Given the description of an element on the screen output the (x, y) to click on. 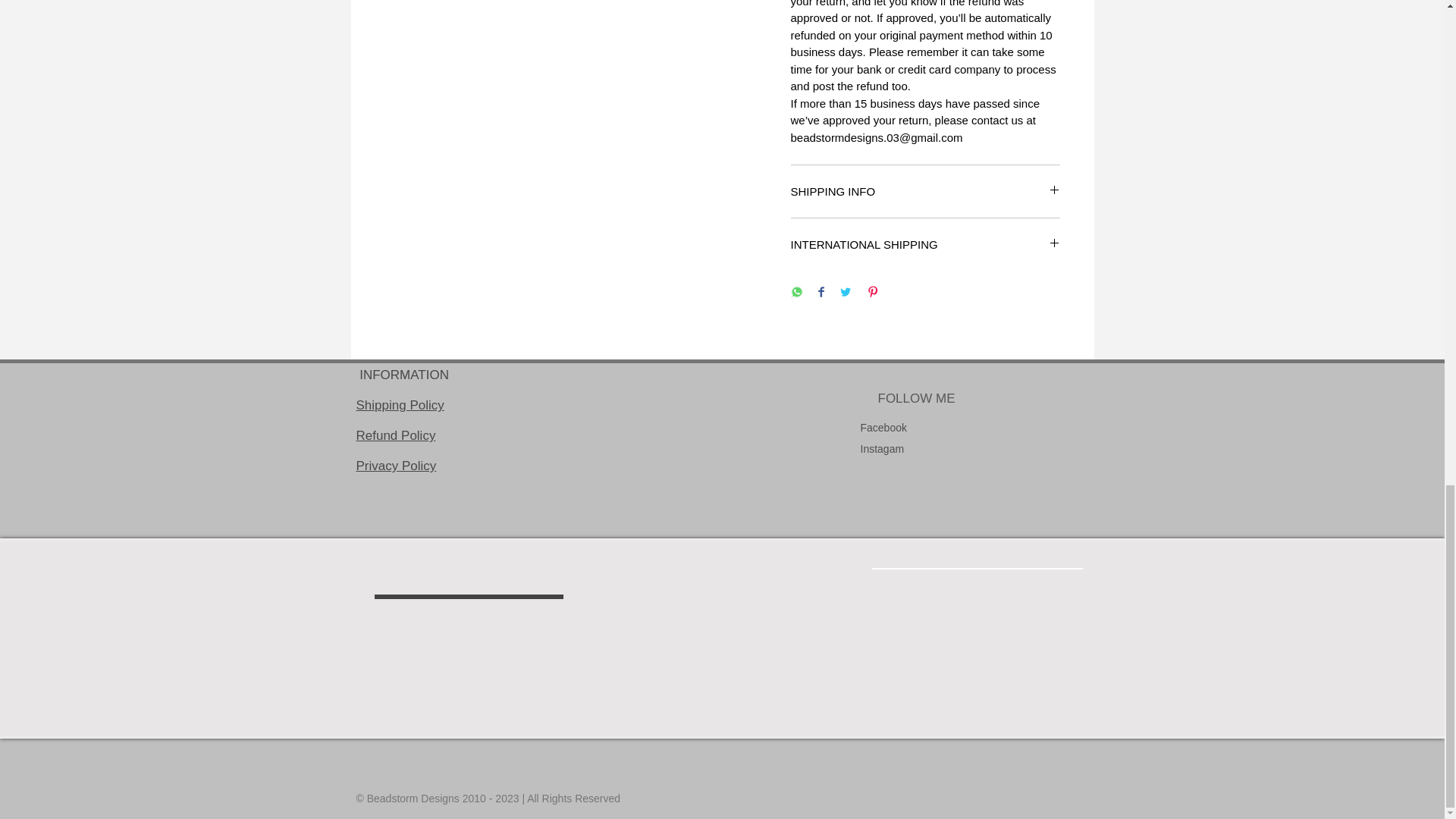
Shipping Policy (400, 405)
Refund Policy (395, 435)
SHIPPING INFO (924, 191)
INTERNATIONAL SHIPPING (924, 244)
Privacy Policy (396, 465)
